Given the description of an element on the screen output the (x, y) to click on. 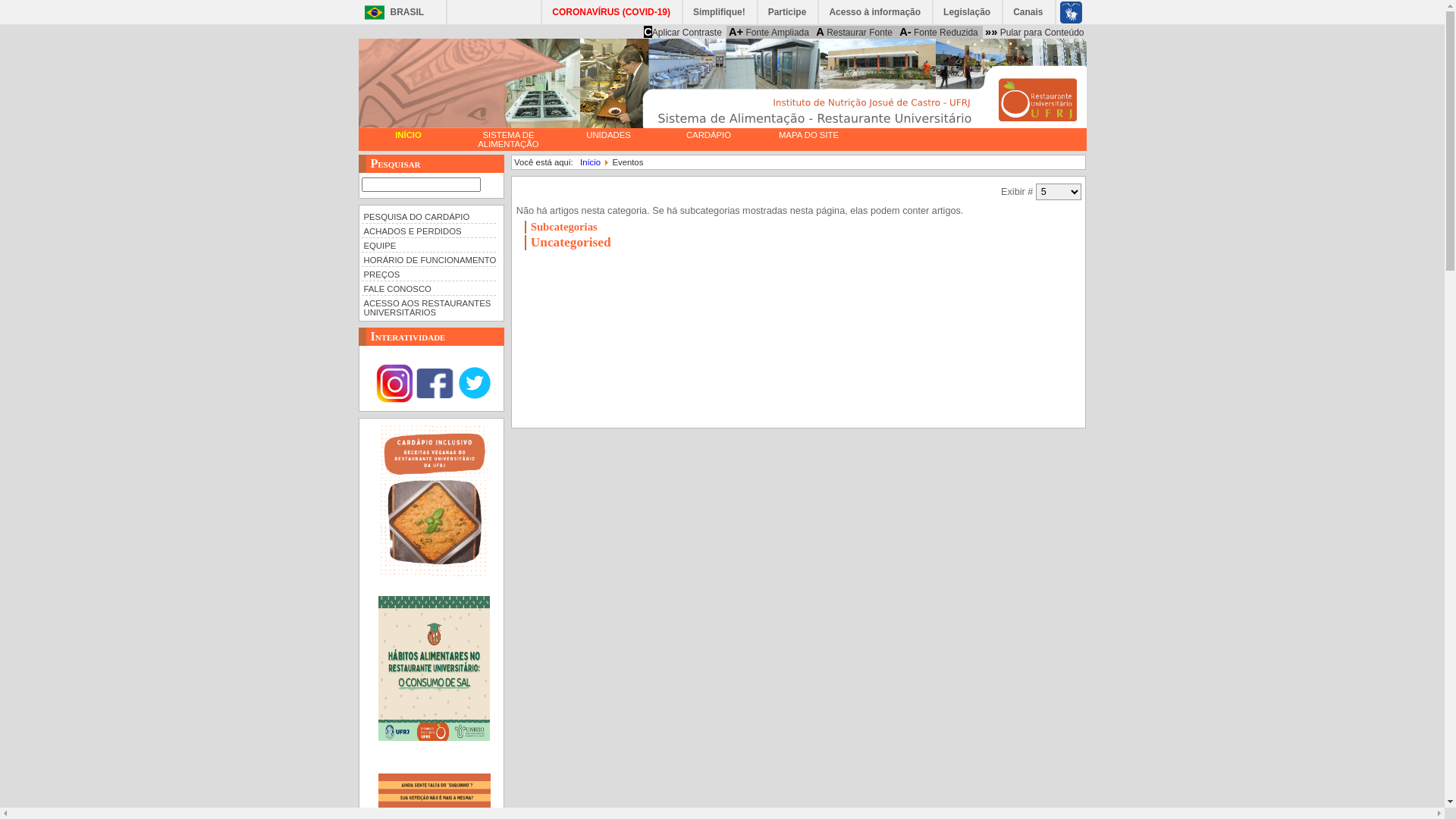
Simplifique! Element type: text (719, 11)
FALE CONOSCO Element type: text (427, 287)
MAPA DO SITE Element type: text (808, 134)
CAplicar Contraste Element type: text (682, 31)
ACHADOS E PERDIDOS Element type: text (427, 229)
Uncategorised Element type: text (570, 242)
UNIDADES Element type: text (608, 134)
A- Fonte Reduzida Element type: text (938, 31)
BRASIL Element type: text (389, 12)
Participe Element type: text (788, 11)
Canais Element type: text (1028, 11)
A+ Fonte Ampliada Element type: text (768, 31)
EQUIPE Element type: text (427, 244)
A Restaurar Fonte Element type: text (853, 31)
